Given the description of an element on the screen output the (x, y) to click on. 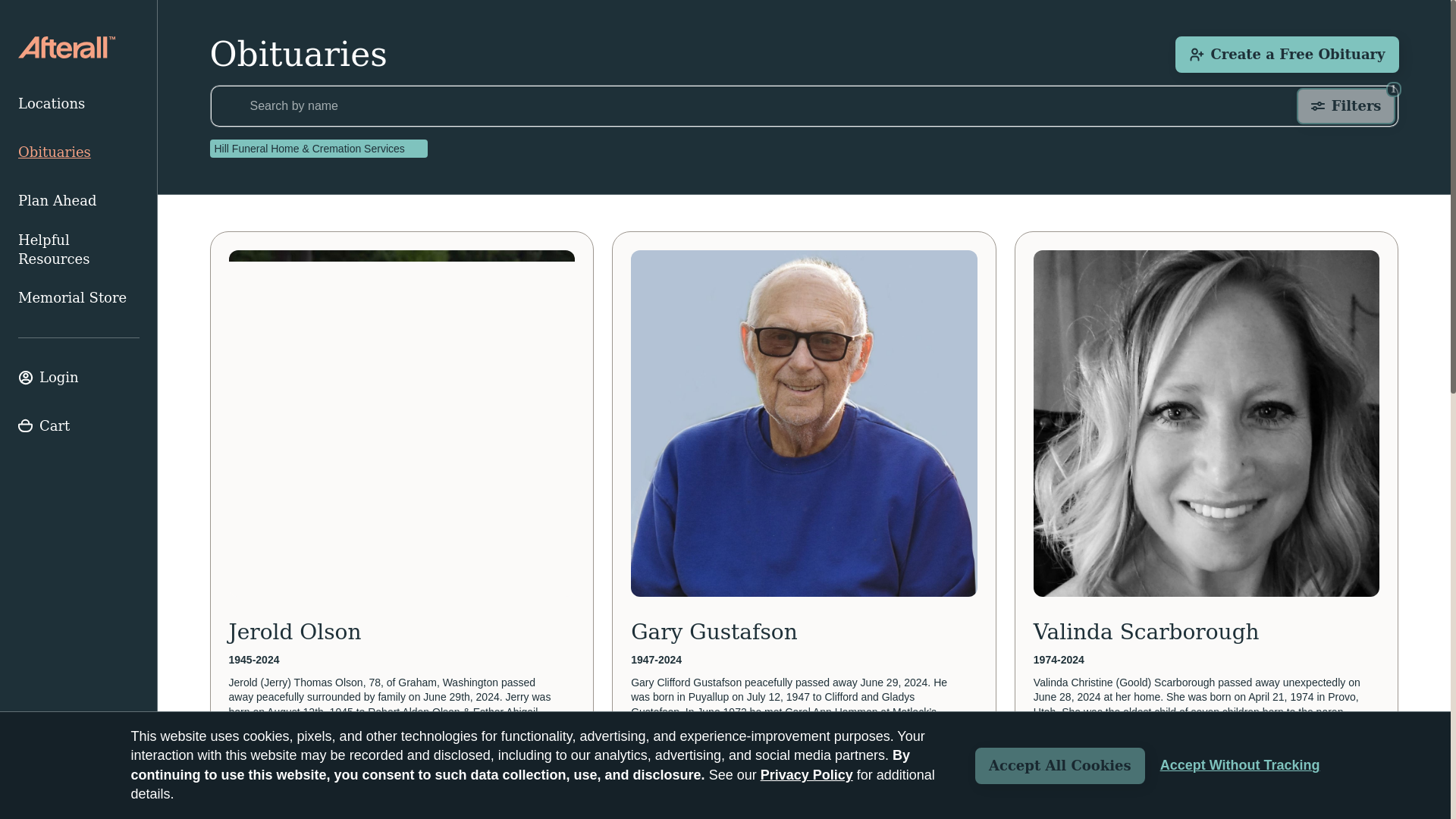
Home page (66, 47)
Create a Free Obituary (1285, 54)
Cart (78, 426)
Sign In (78, 377)
Accept Without Tracking (1240, 765)
View your cart (78, 426)
Locations (78, 103)
Login (78, 377)
Memorial Store (78, 297)
Helpful Resources (78, 249)
